Given the description of an element on the screen output the (x, y) to click on. 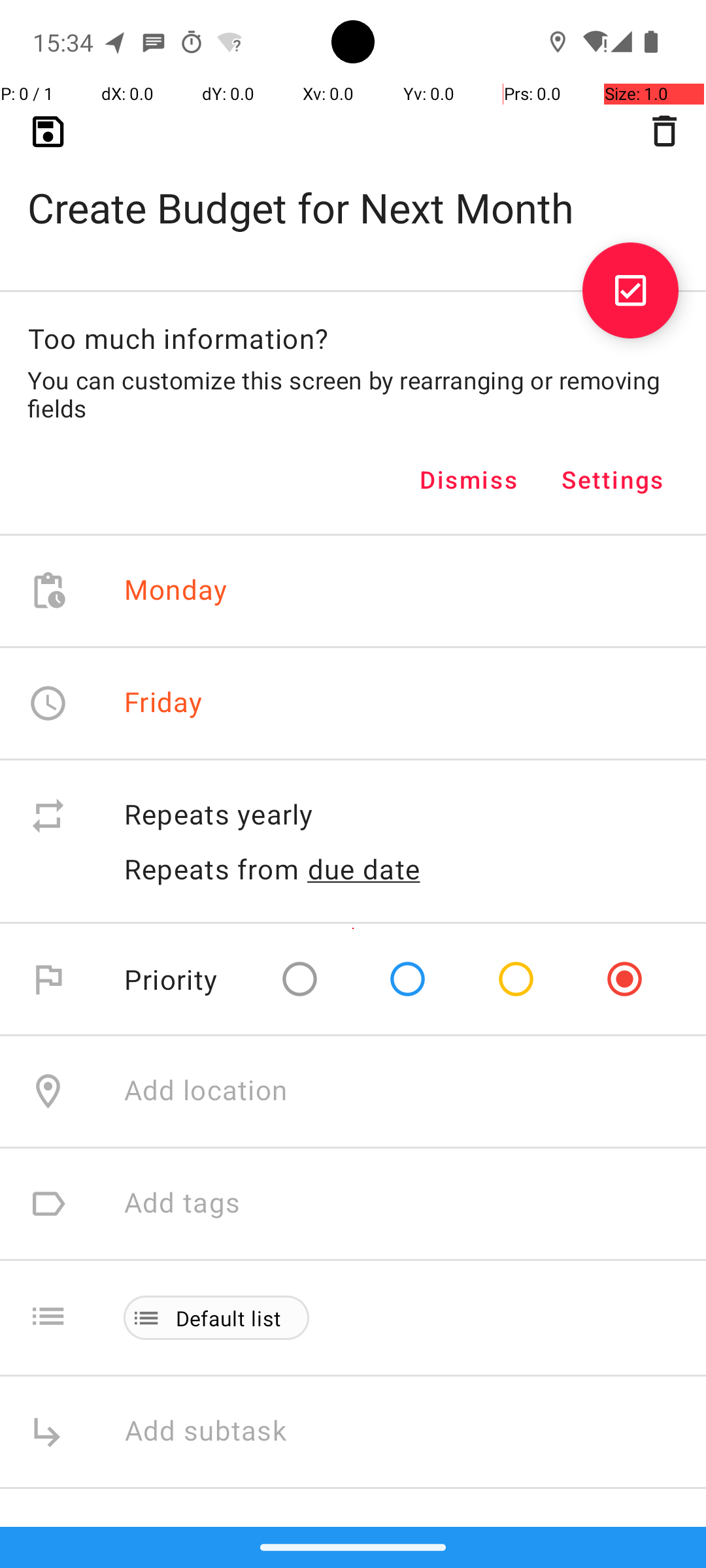
Repeats yearly Element type: android.widget.TextView (400, 815)
Repeats from Element type: android.widget.TextView (211, 868)
due date Element type: android.widget.TextView (363, 868)
